Given the description of an element on the screen output the (x, y) to click on. 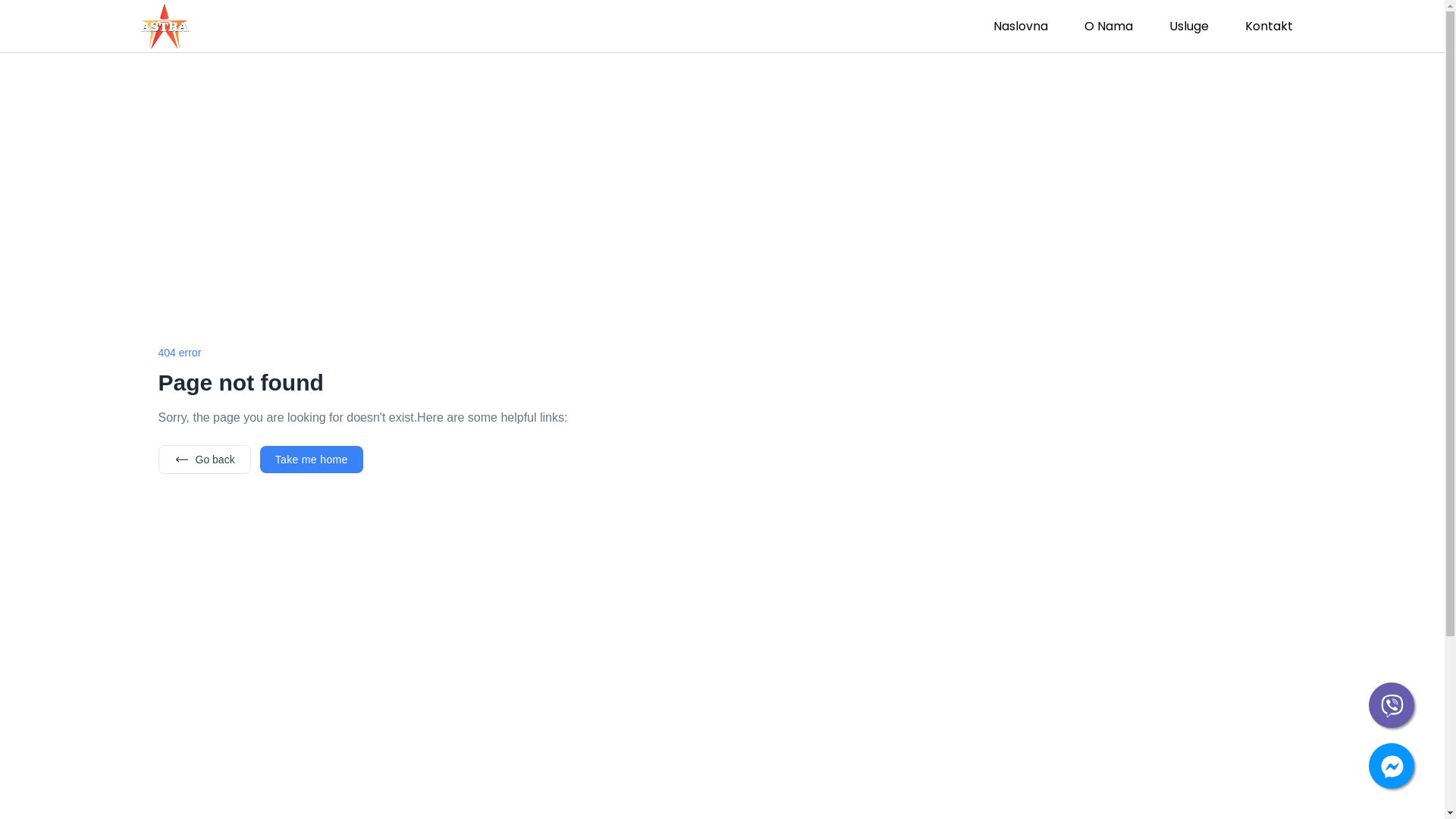
O Nama Element type: text (1108, 25)
Take me home Element type: text (311, 459)
Naslovna Element type: text (1020, 25)
Go back Element type: text (203, 459)
Kontakt Element type: text (1269, 25)
Usluge Element type: text (1188, 25)
